Given the description of an element on the screen output the (x, y) to click on. 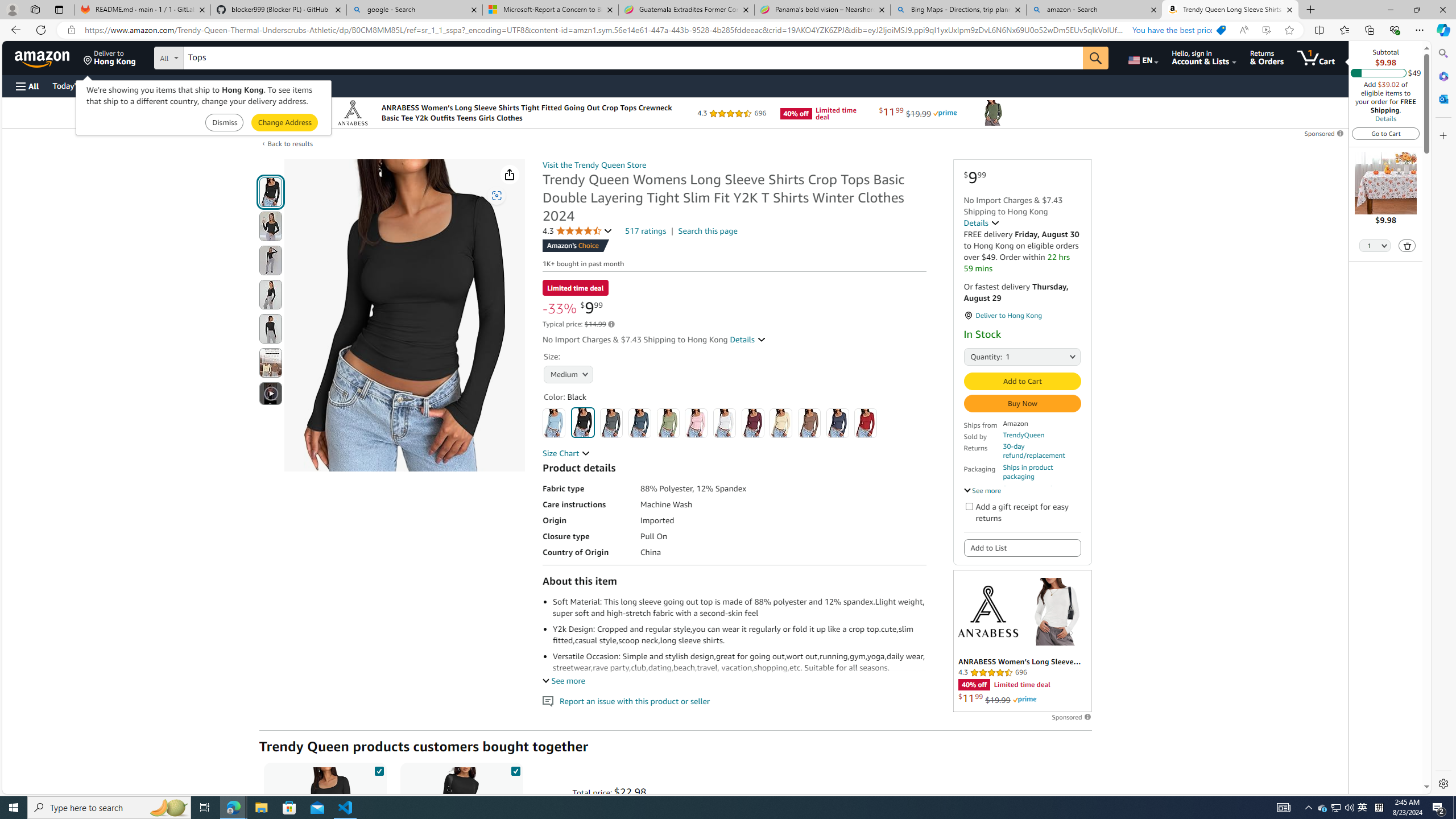
Search Amazon (633, 57)
Returns & Orders (1266, 57)
